Given the description of an element on the screen output the (x, y) to click on. 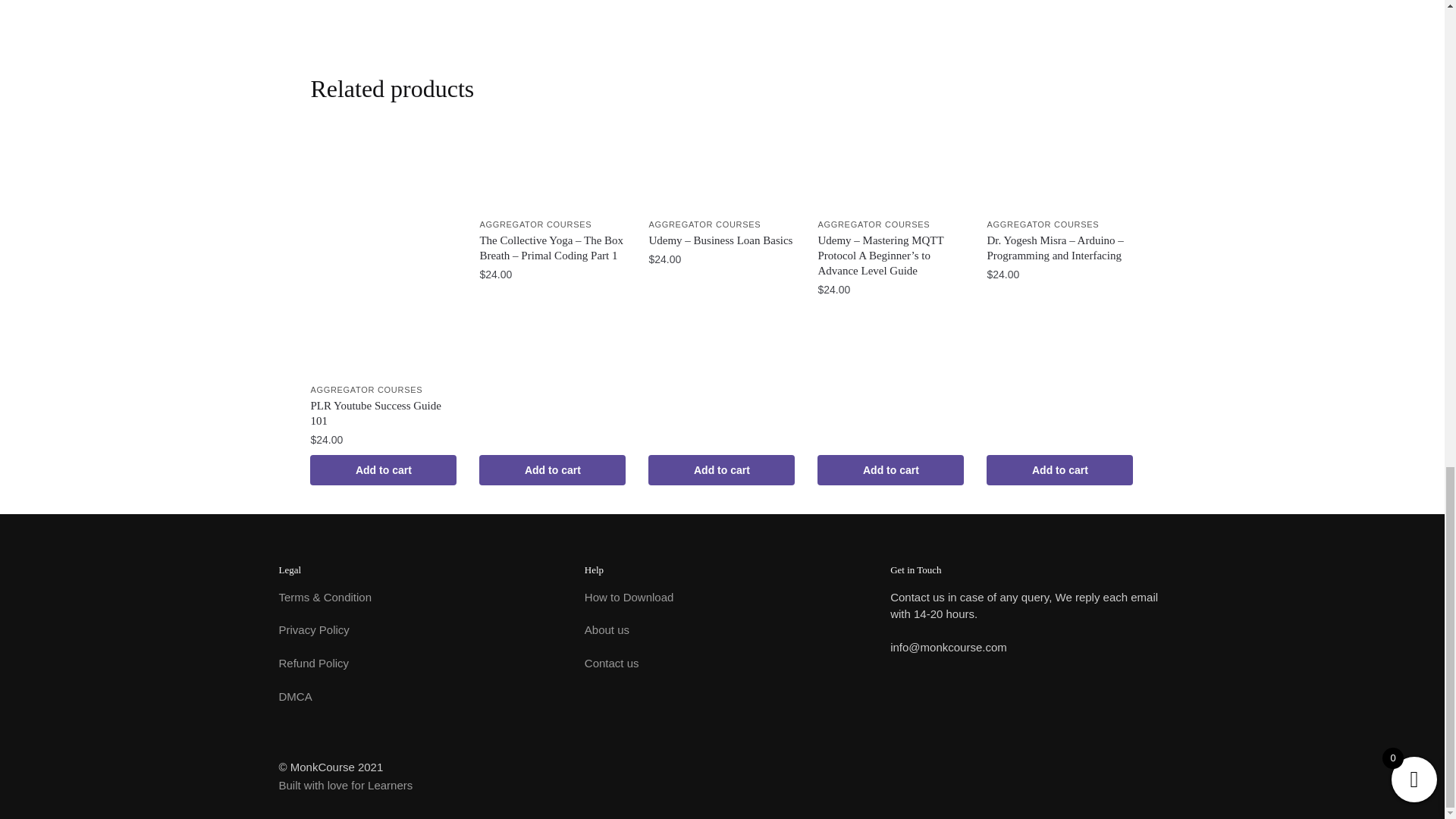
Add to cart (552, 470)
AGGREGATOR COURSES (535, 224)
PLR Youtube Success Guide 101 (383, 413)
Add to cart (383, 470)
AGGREGATOR COURSES (366, 388)
AGGREGATOR COURSES (703, 224)
